Given the description of an element on the screen output the (x, y) to click on. 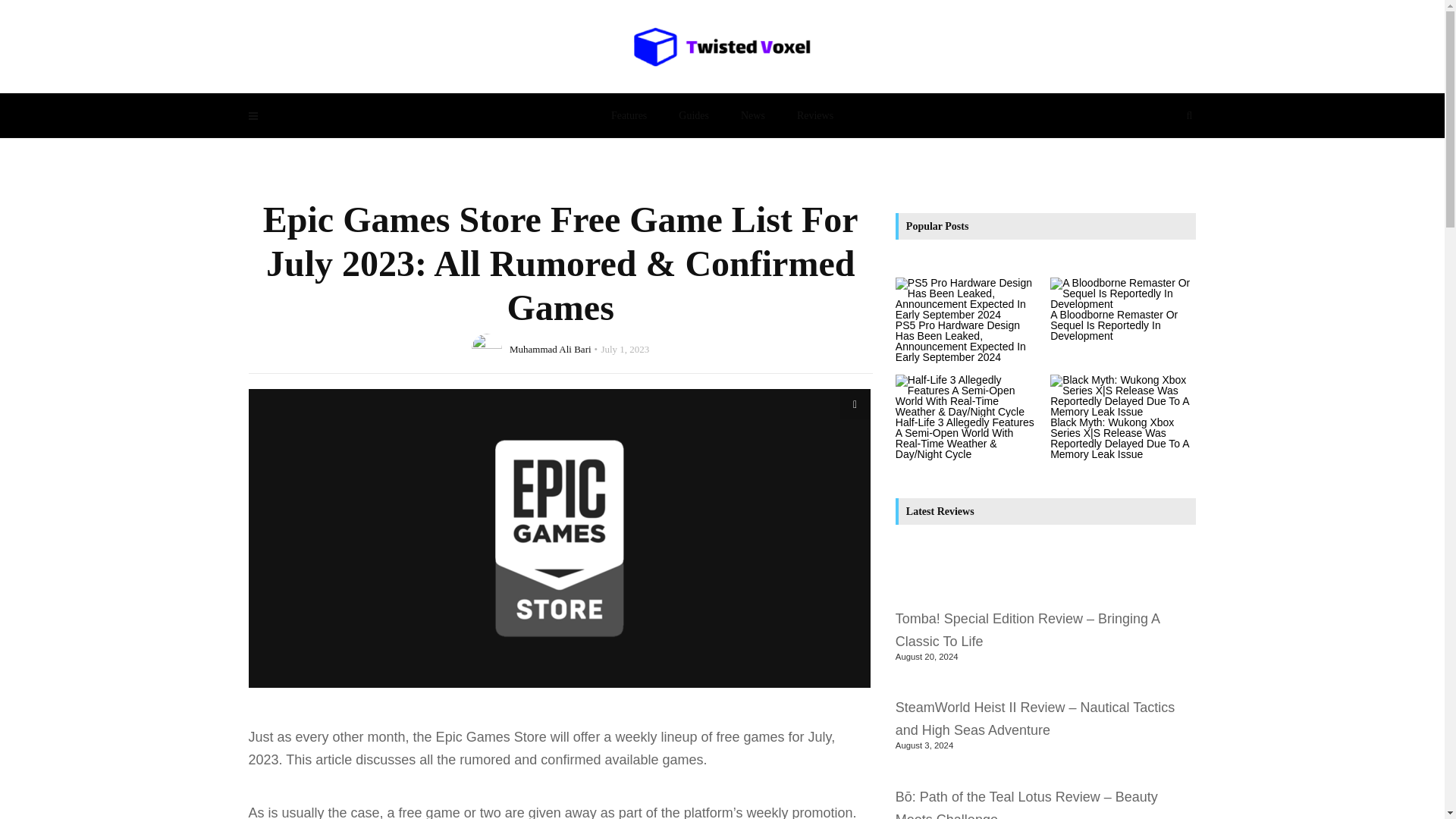
Reviews (814, 115)
Muhammad Ali Bari (550, 348)
News (752, 115)
Features (628, 115)
Guides (693, 115)
